Given the description of an element on the screen output the (x, y) to click on. 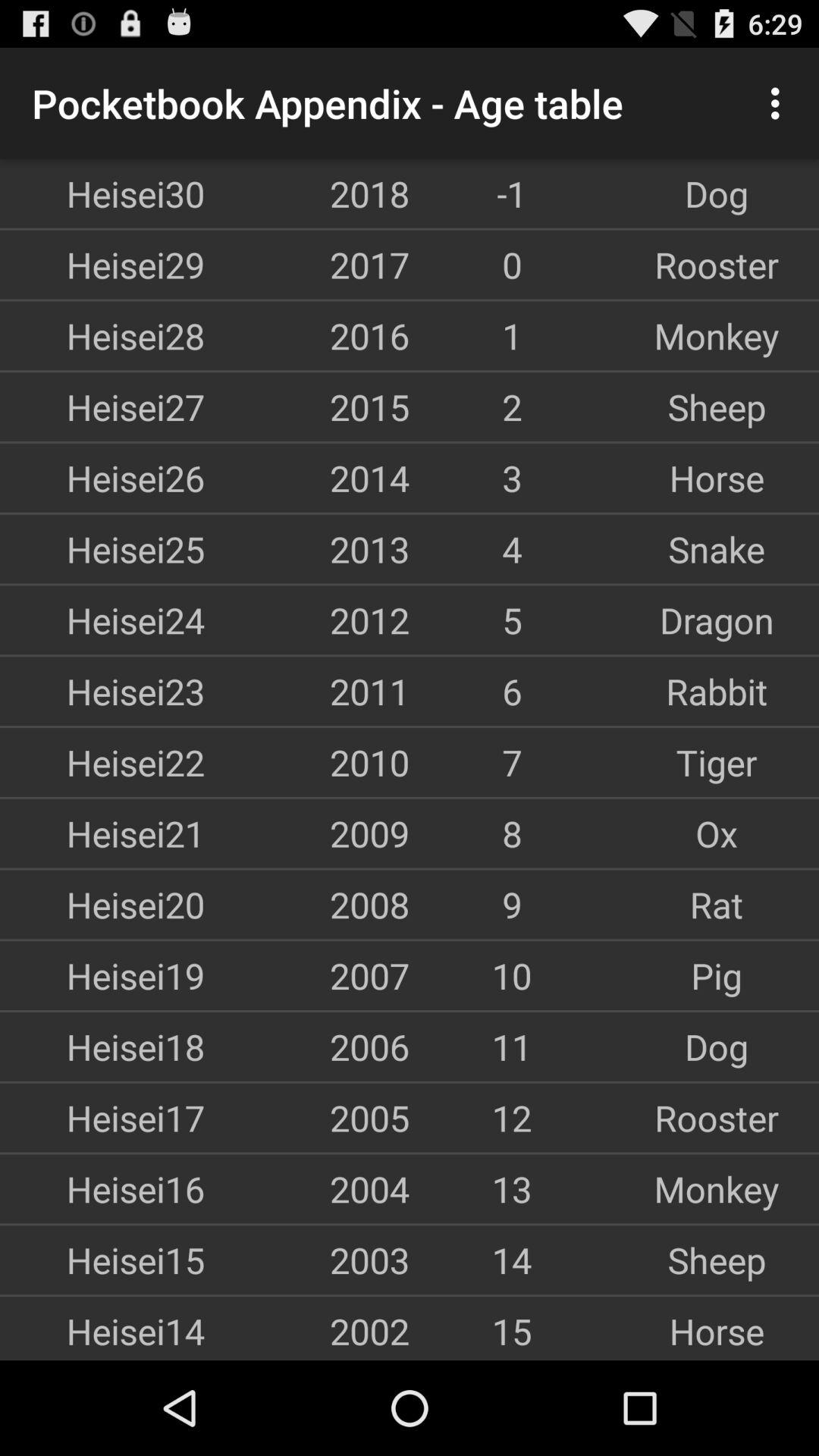
scroll to 2010 (306, 762)
